Given the description of an element on the screen output the (x, y) to click on. 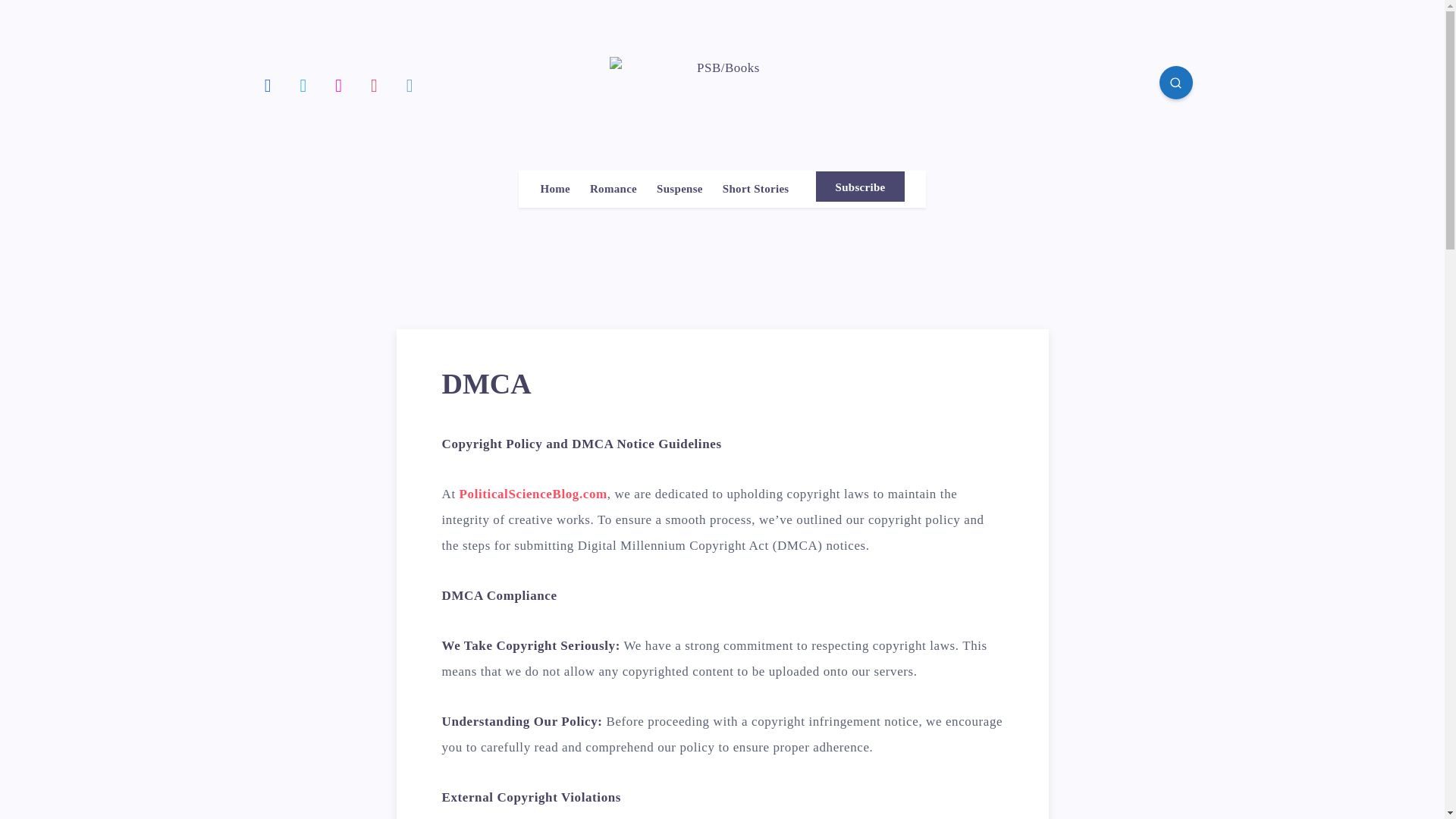
Romance (613, 188)
Subscribe (859, 186)
Home (555, 188)
Short Stories (755, 188)
PoliticalScienceBlog.com (533, 493)
Suspense (679, 188)
